Given the description of an element on the screen output the (x, y) to click on. 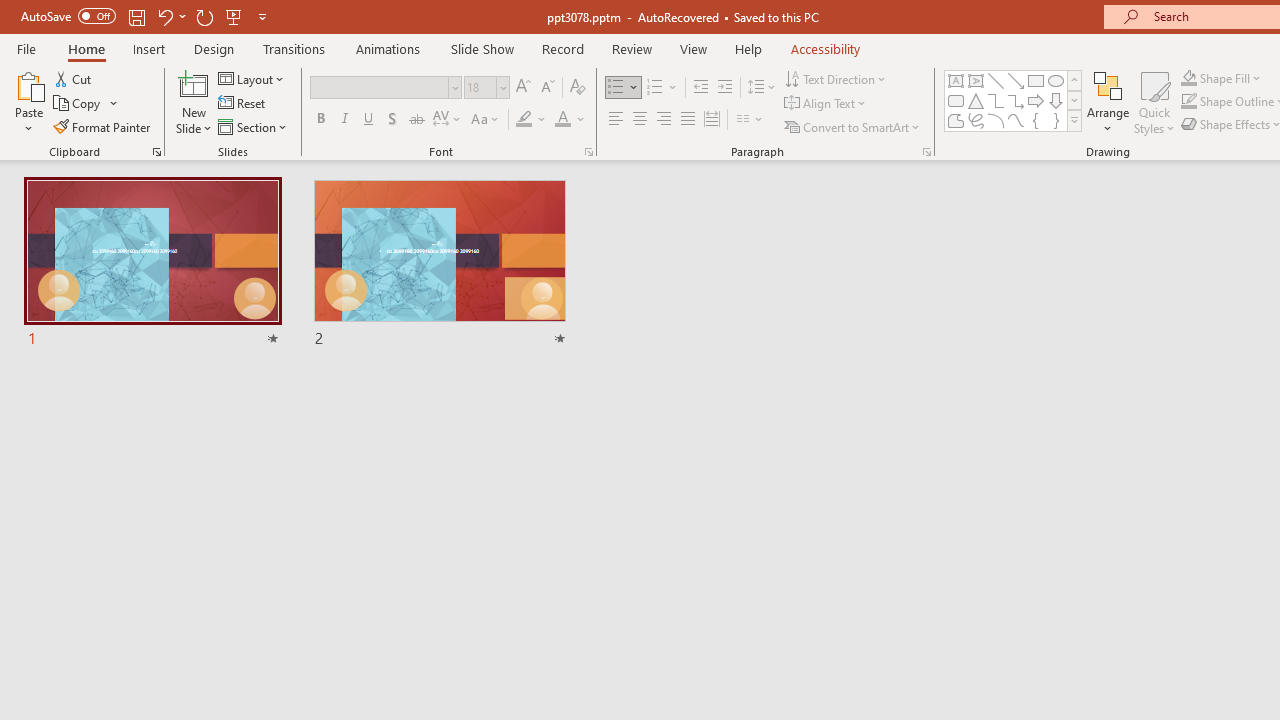
Isosceles Triangle (975, 100)
Freeform: Scribble (975, 120)
Shape Fill (1221, 78)
Increase Font Size (522, 87)
Curve (1016, 120)
Right Brace (1055, 120)
Underline (369, 119)
Left Brace (1035, 120)
AutomationID: ShapesInsertGallery (1014, 100)
Strikethrough (416, 119)
